Given the description of an element on the screen output the (x, y) to click on. 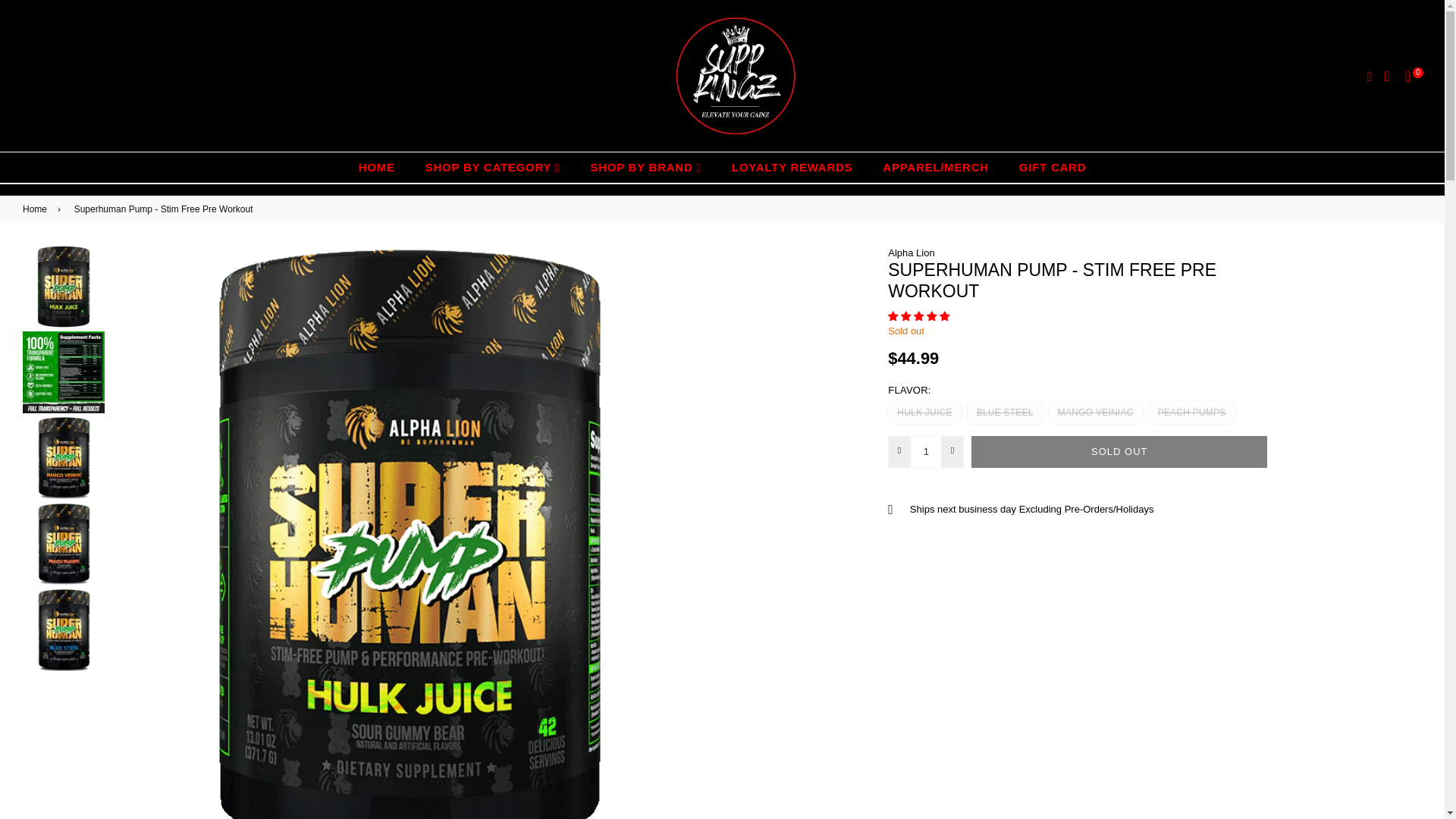
1 (925, 451)
Alpha Lion (911, 252)
HULK JUICE (924, 412)
PEACH PUMPS (1191, 412)
MANGO VEINIAC (1095, 412)
HOME (376, 167)
SHOP BY CATEGORY (492, 167)
Back to the home page (37, 209)
BLUE STEEL (1005, 412)
